Given the description of an element on the screen output the (x, y) to click on. 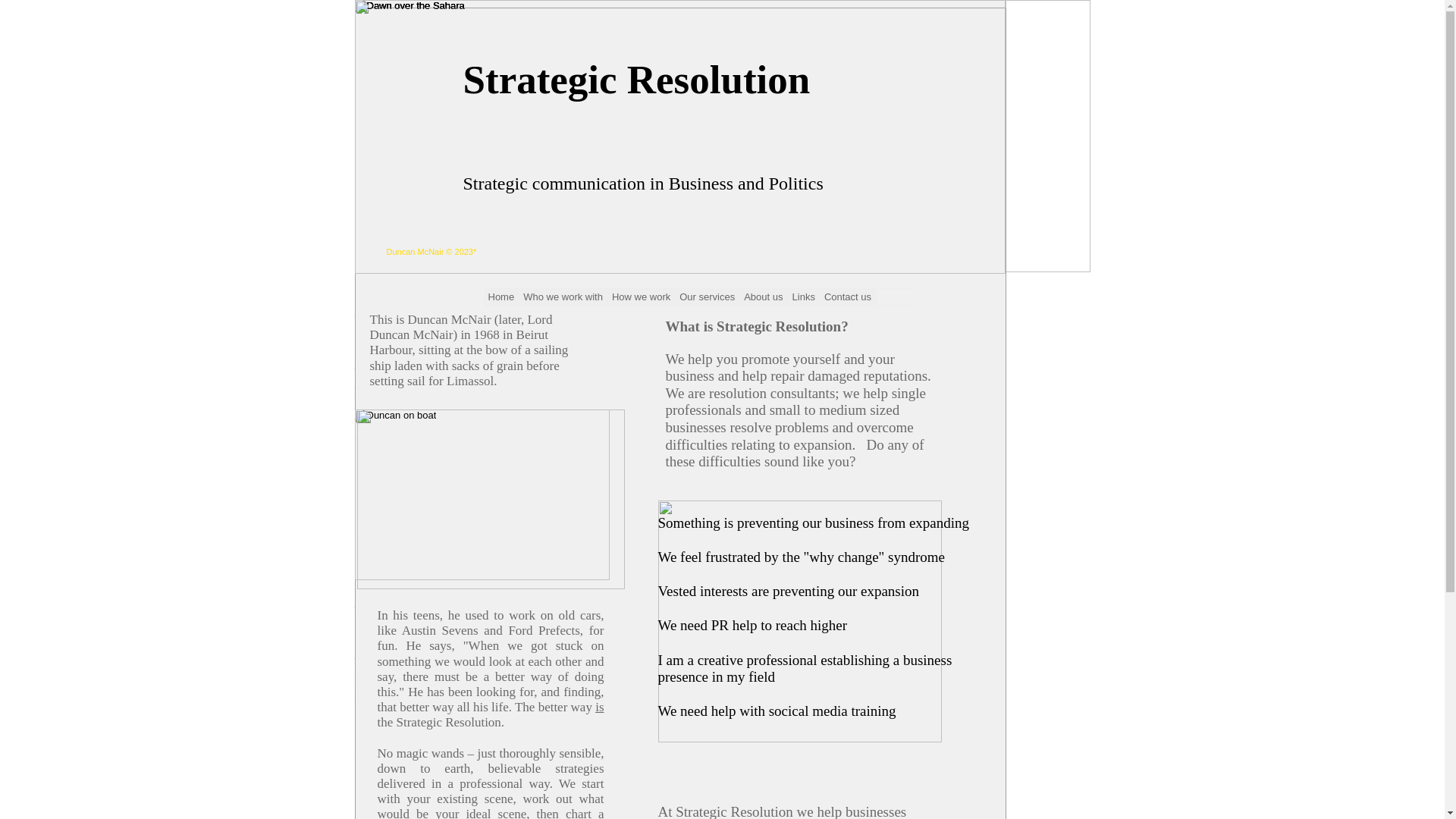
Photo picture No 2 (409, 6)
Our ideal clients (497, 493)
Duncan Beirut harbour 1968 -2 (395, 415)
How we work (557, 493)
